Given the description of an element on the screen output the (x, y) to click on. 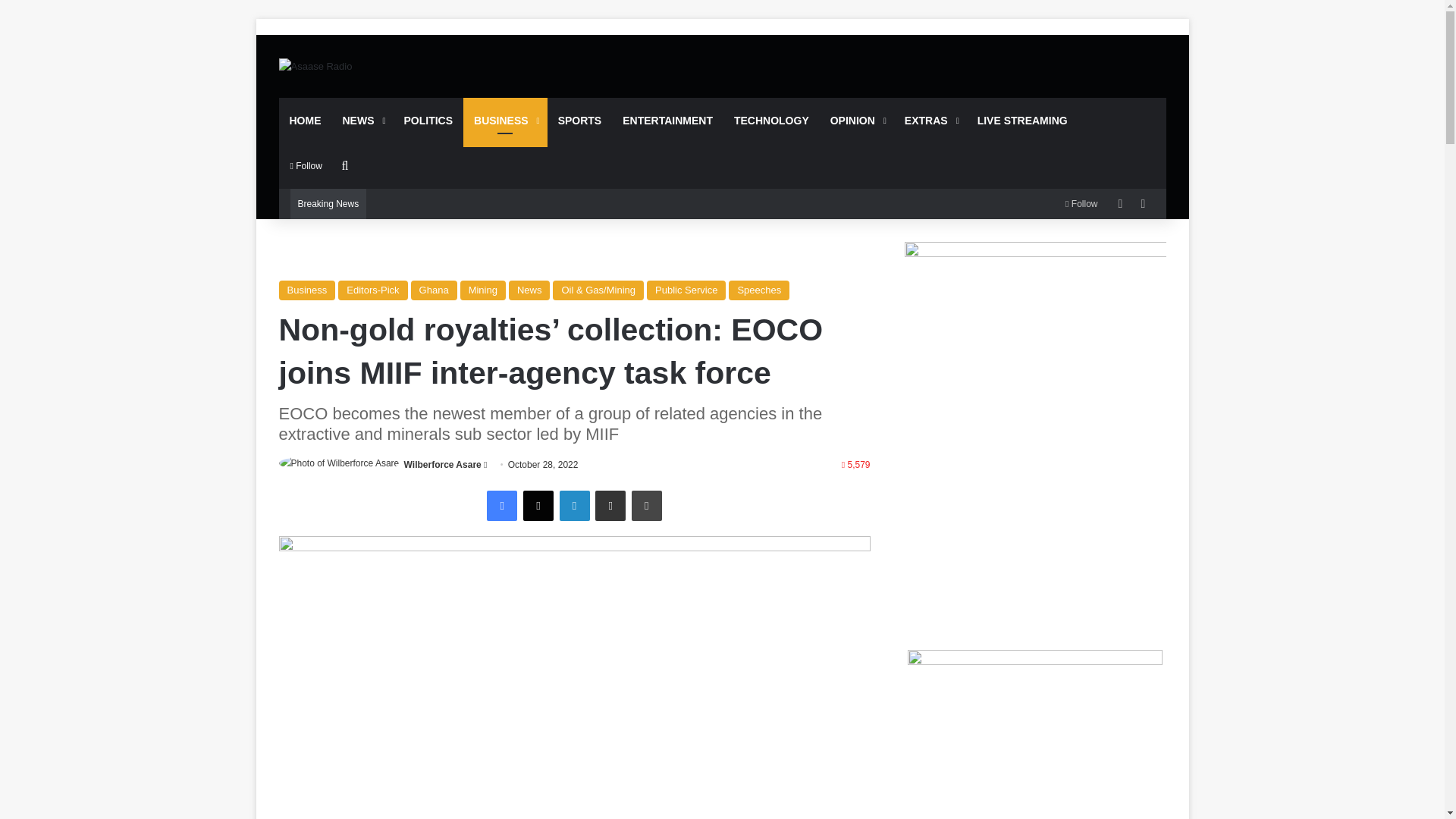
BUSINESS (505, 120)
LinkedIn (574, 505)
POLITICS (428, 120)
Print (646, 505)
Wilberforce Asare (442, 464)
Share via Email (610, 505)
Asaase Radio (315, 65)
HOME (305, 120)
Facebook (501, 505)
X (537, 505)
NEWS (362, 120)
